Given the description of an element on the screen output the (x, y) to click on. 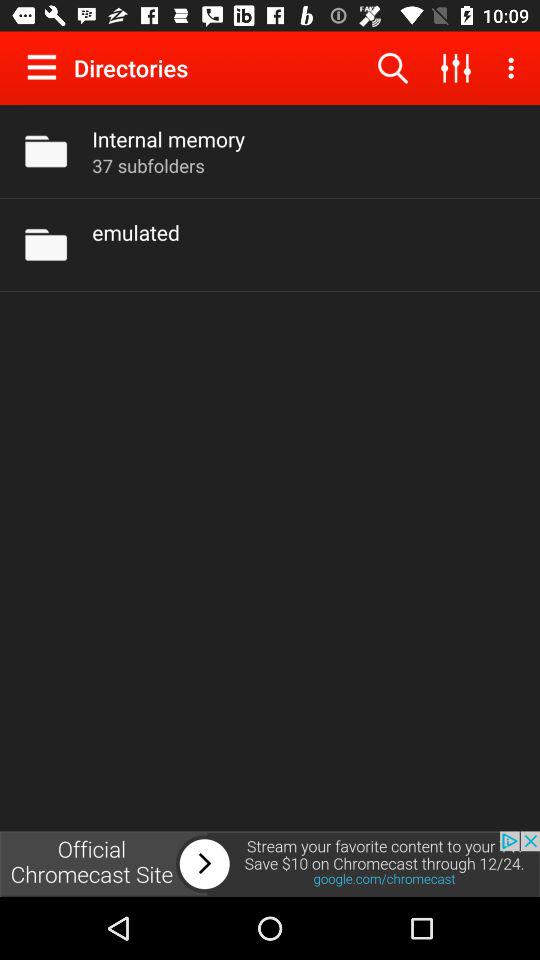
open advertisement (270, 864)
